Given the description of an element on the screen output the (x, y) to click on. 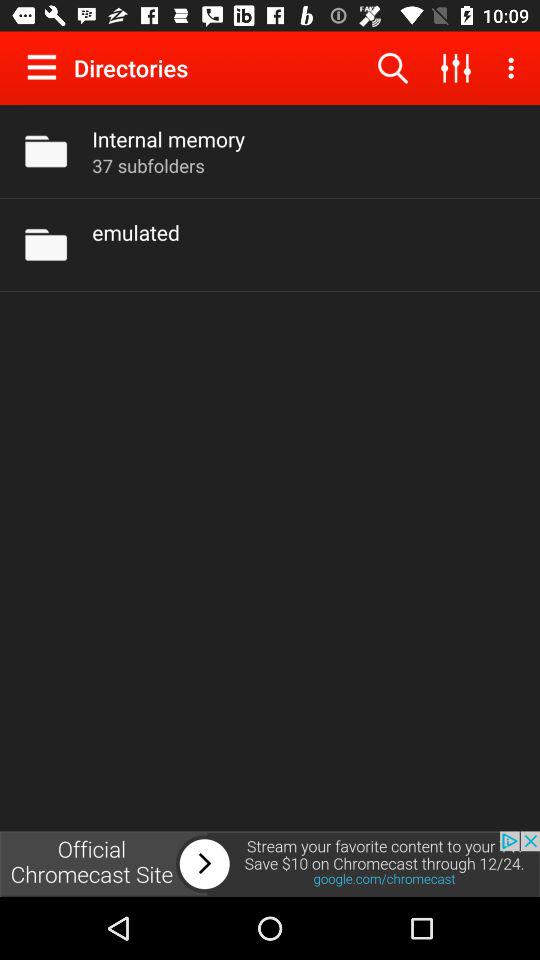
open advertisement (270, 864)
